Given the description of an element on the screen output the (x, y) to click on. 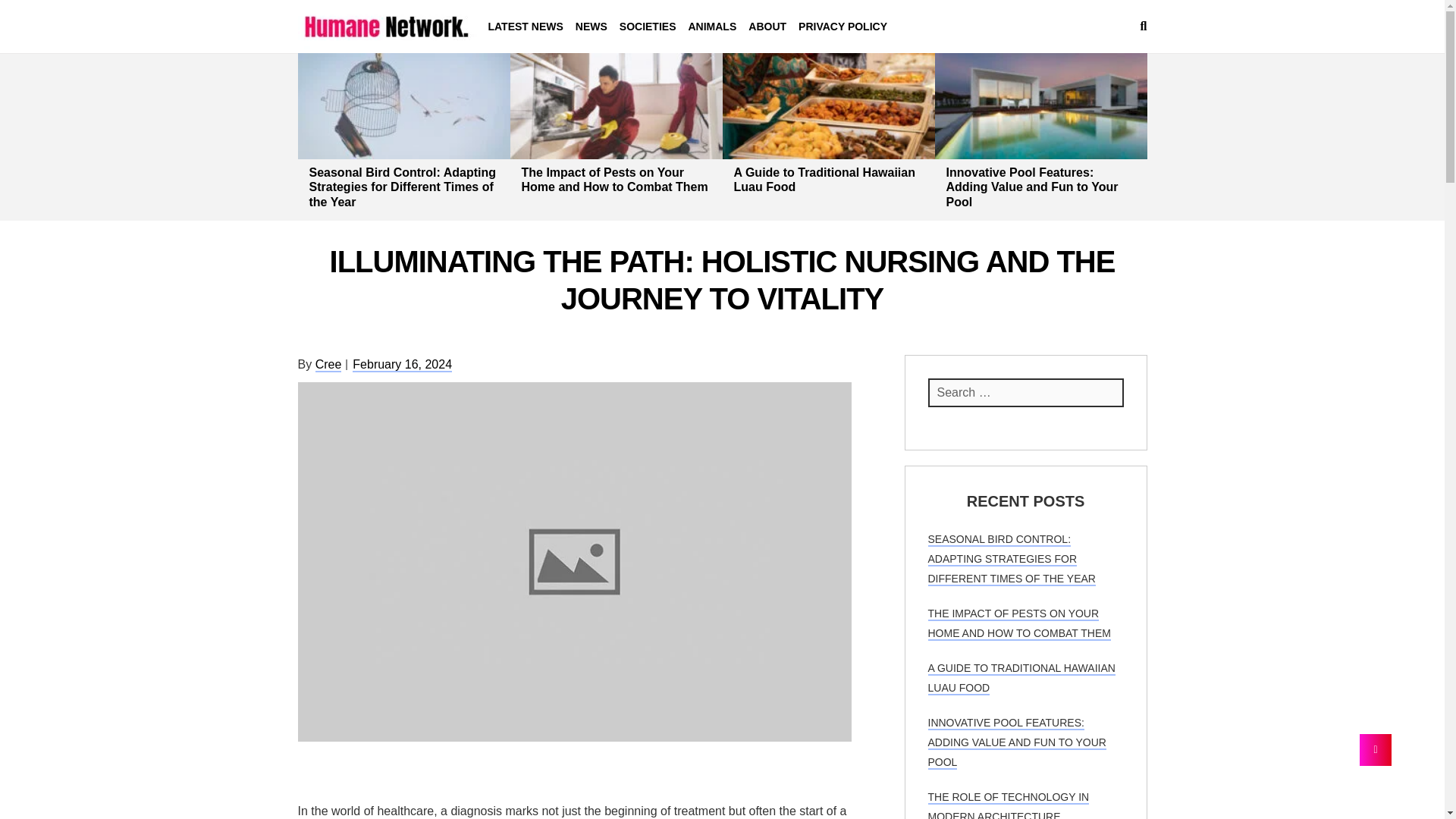
LATEST NEWS (528, 27)
A Guide to Traditional Hawaiian Luau Food (824, 179)
THE IMPACT OF PESTS ON YOUR HOME AND HOW TO COMBAT THEM (1019, 623)
A GUIDE TO TRADITIONAL HAWAIIAN LUAU FOOD (1021, 678)
ABOUT (767, 27)
PRIVACY POLICY (842, 27)
The Impact of Pests on Your Home and How to Combat Them (614, 179)
ANIMALS (711, 27)
NEWS (590, 27)
